Given the description of an element on the screen output the (x, y) to click on. 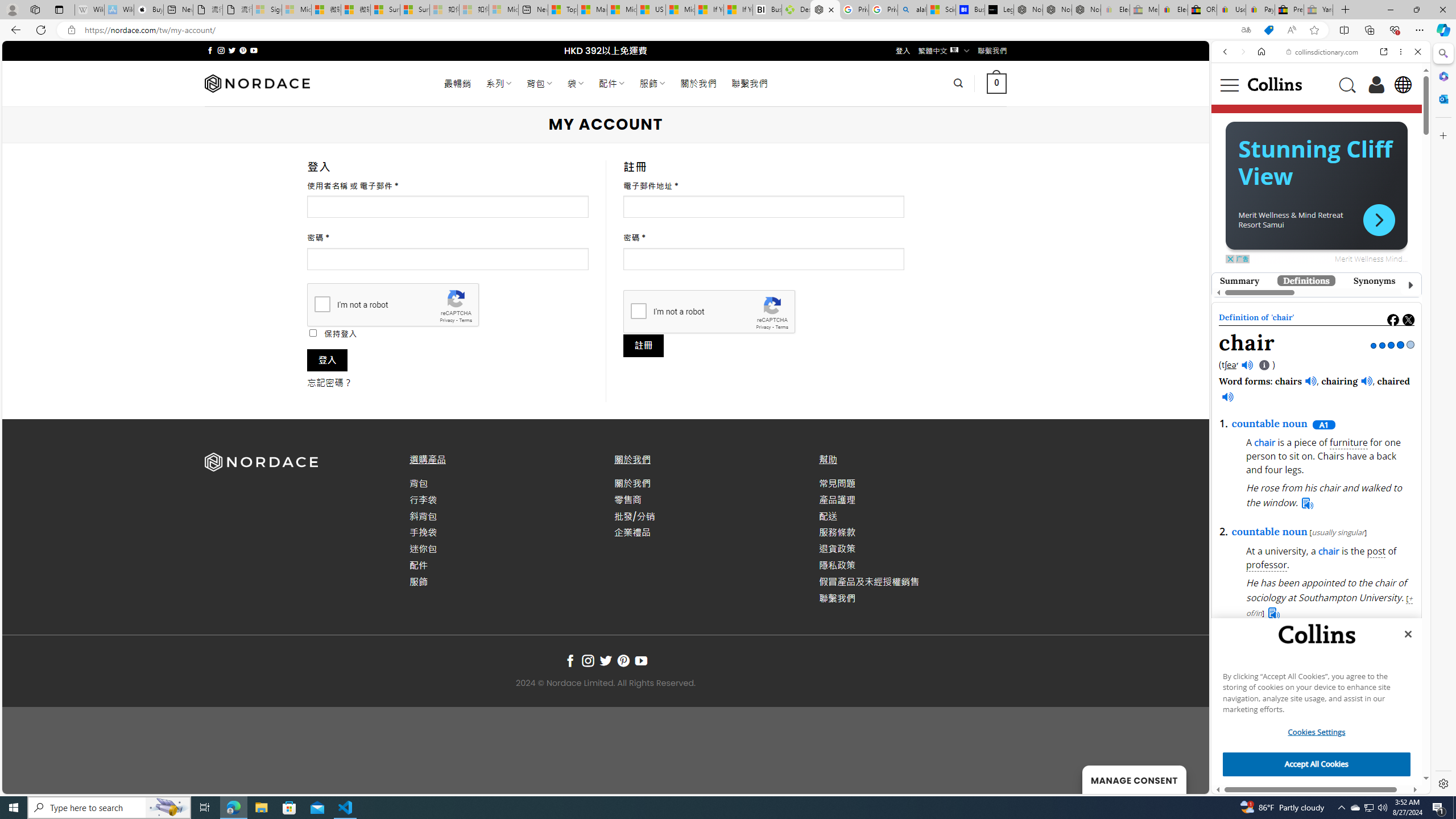
I'm not a robot (638, 310)
B2 (1269, 781)
